Given the description of an element on the screen output the (x, y) to click on. 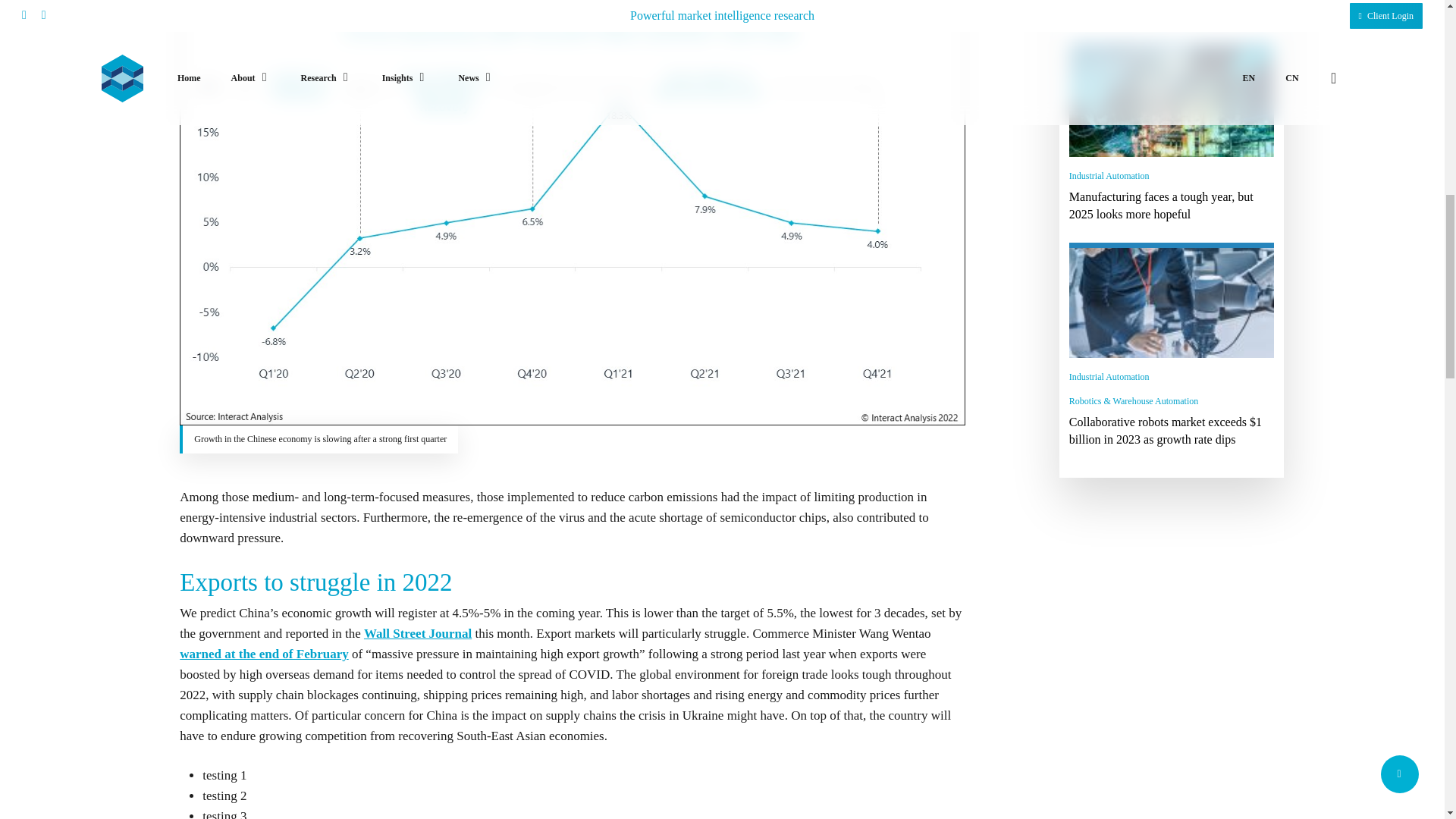
Wall Street Journal (417, 633)
warned at the end of February (263, 653)
